Given the description of an element on the screen output the (x, y) to click on. 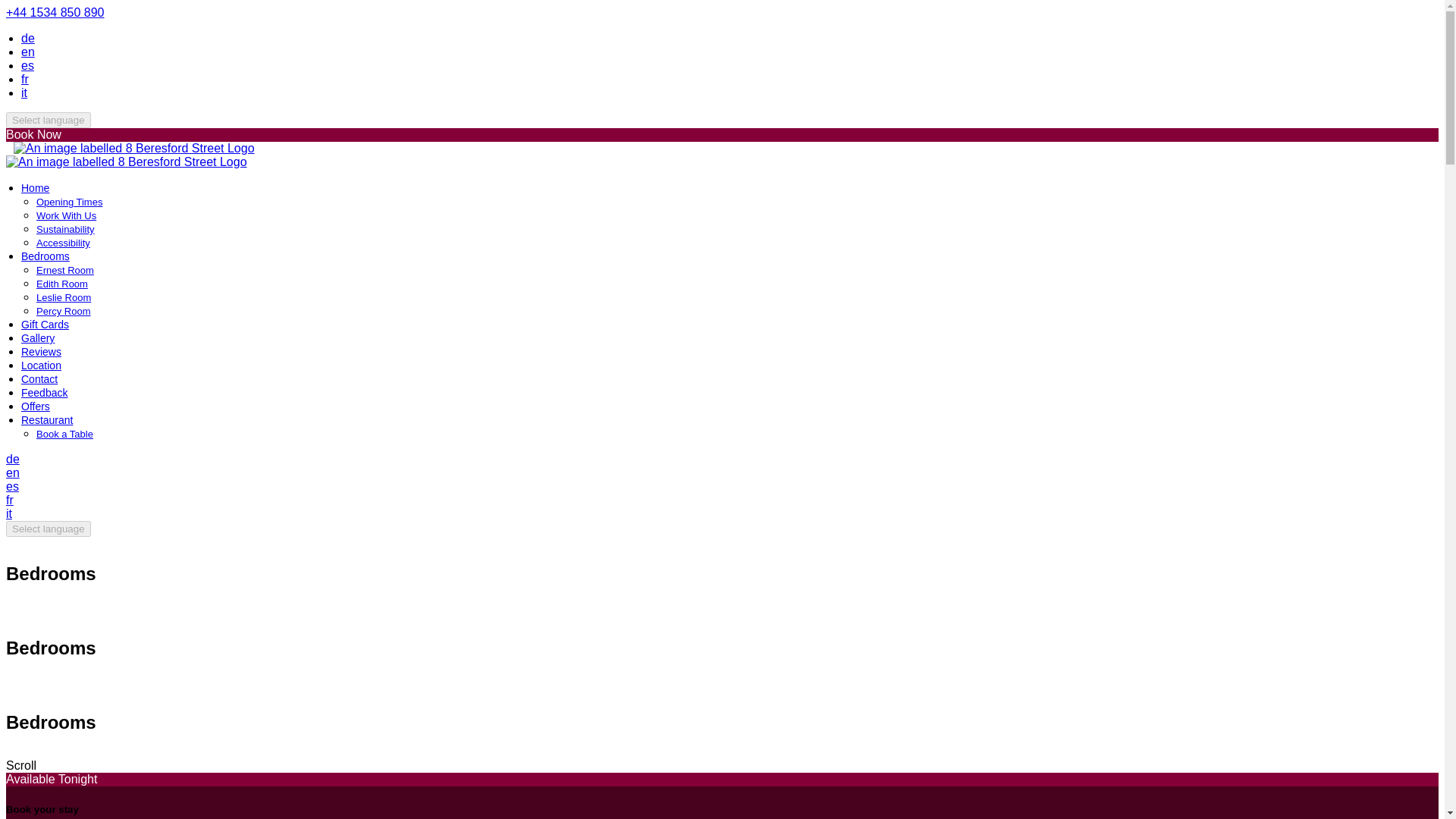
Edith Room (61, 283)
it (24, 92)
Ernest Room (65, 270)
es (11, 486)
Gallery (38, 337)
Opening Times (68, 202)
Select language (47, 119)
de (12, 459)
Gift Cards (44, 324)
en (27, 51)
Contact (39, 378)
Accessibility (63, 242)
Work With Us (66, 215)
es (27, 65)
Bedrooms (45, 256)
